Given the description of an element on the screen output the (x, y) to click on. 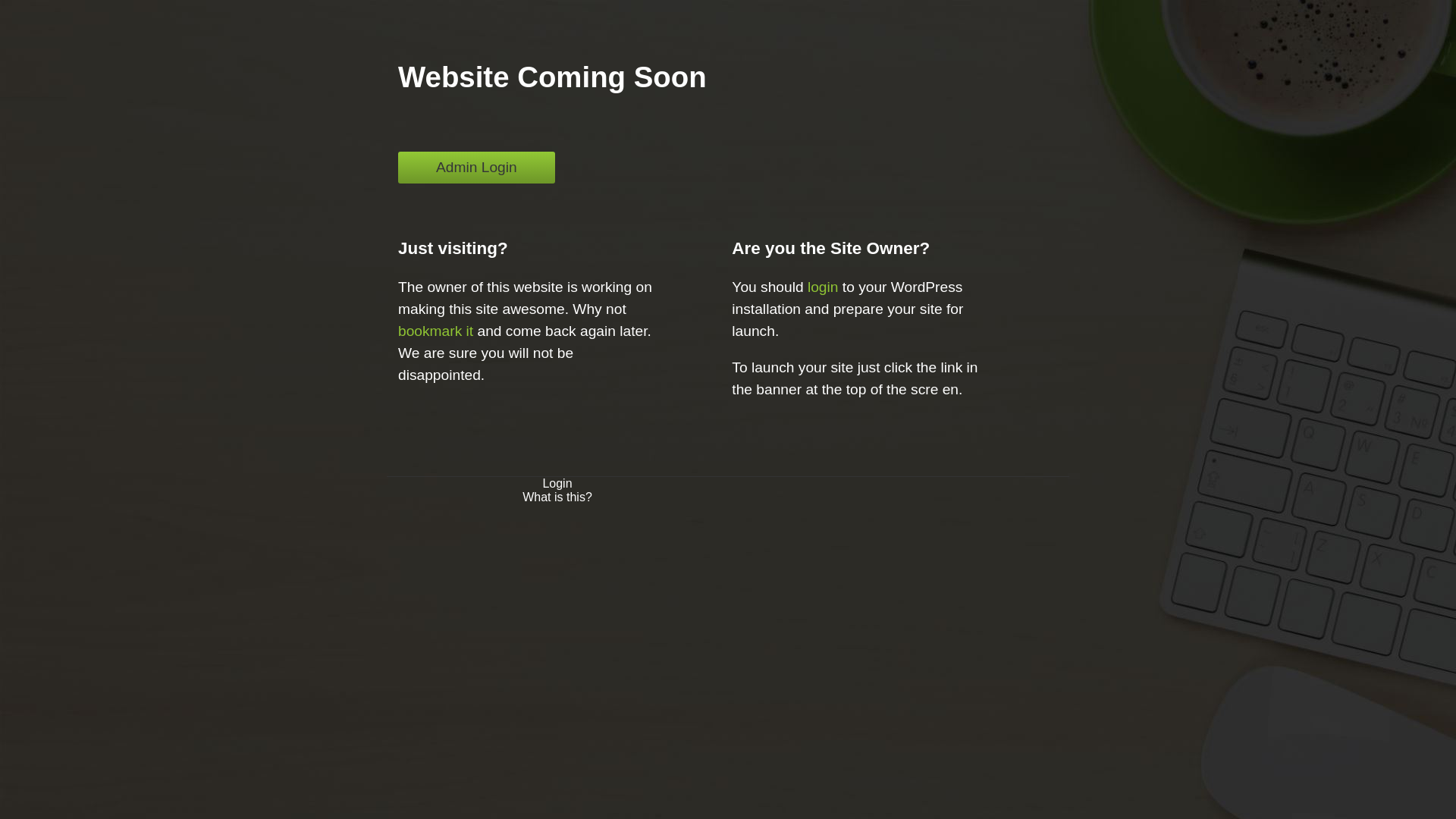
Login Element type: text (557, 483)
bookmark it Element type: text (435, 330)
login Element type: text (822, 286)
What is this? Element type: text (557, 497)
Admin Login Element type: text (476, 167)
